Given the description of an element on the screen output the (x, y) to click on. 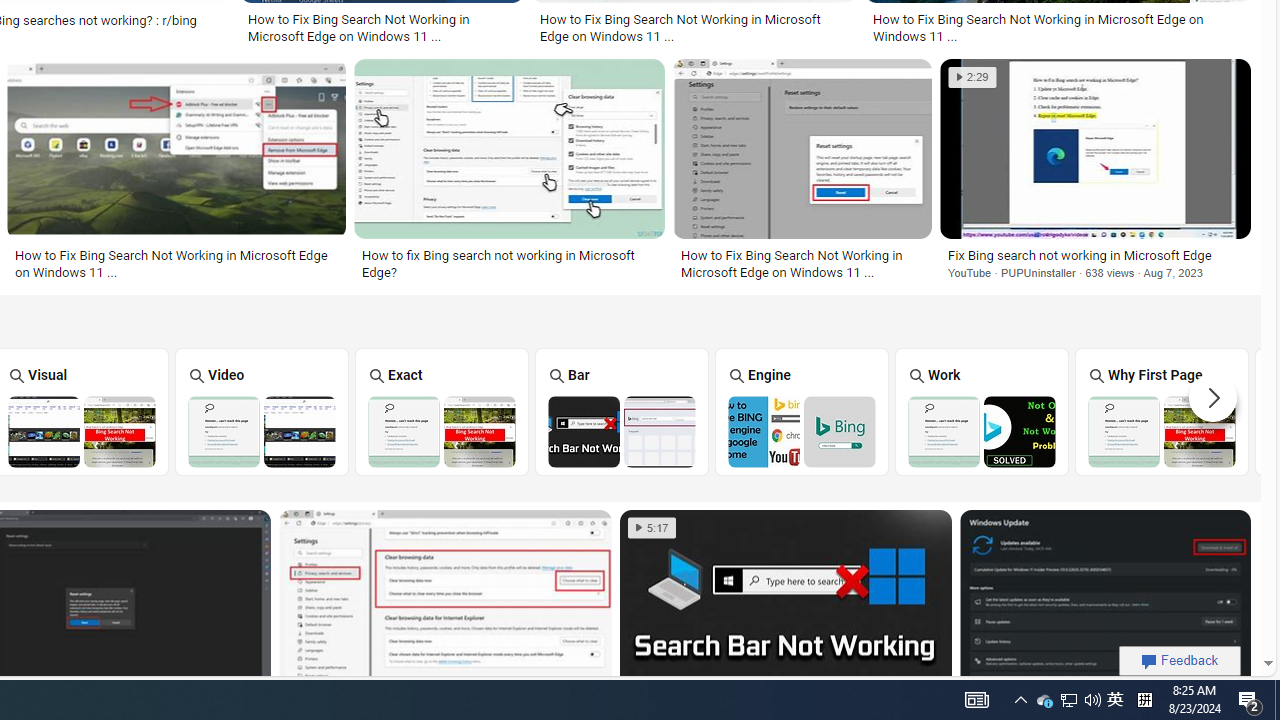
Bing Exact Search Not Working Exact (441, 411)
Bing Search Bar Not Working Bar (621, 411)
Fix Bing search not working in Microsoft Edge (1095, 255)
Why First Page of Bing Search Not Working Why First Page (1162, 411)
Bar (621, 411)
Video (262, 411)
Bing Search Engine Not Working Engine (801, 411)
Bing Video Search Not Working Video (262, 411)
Bing Search Bar Not Working (622, 431)
How to fix Bing search not working in Microsoft Edge?Save (513, 173)
Bing Work Search Not Working (981, 431)
How to fix Bing search not working in Microsoft Edge? (509, 263)
